Given the description of an element on the screen output the (x, y) to click on. 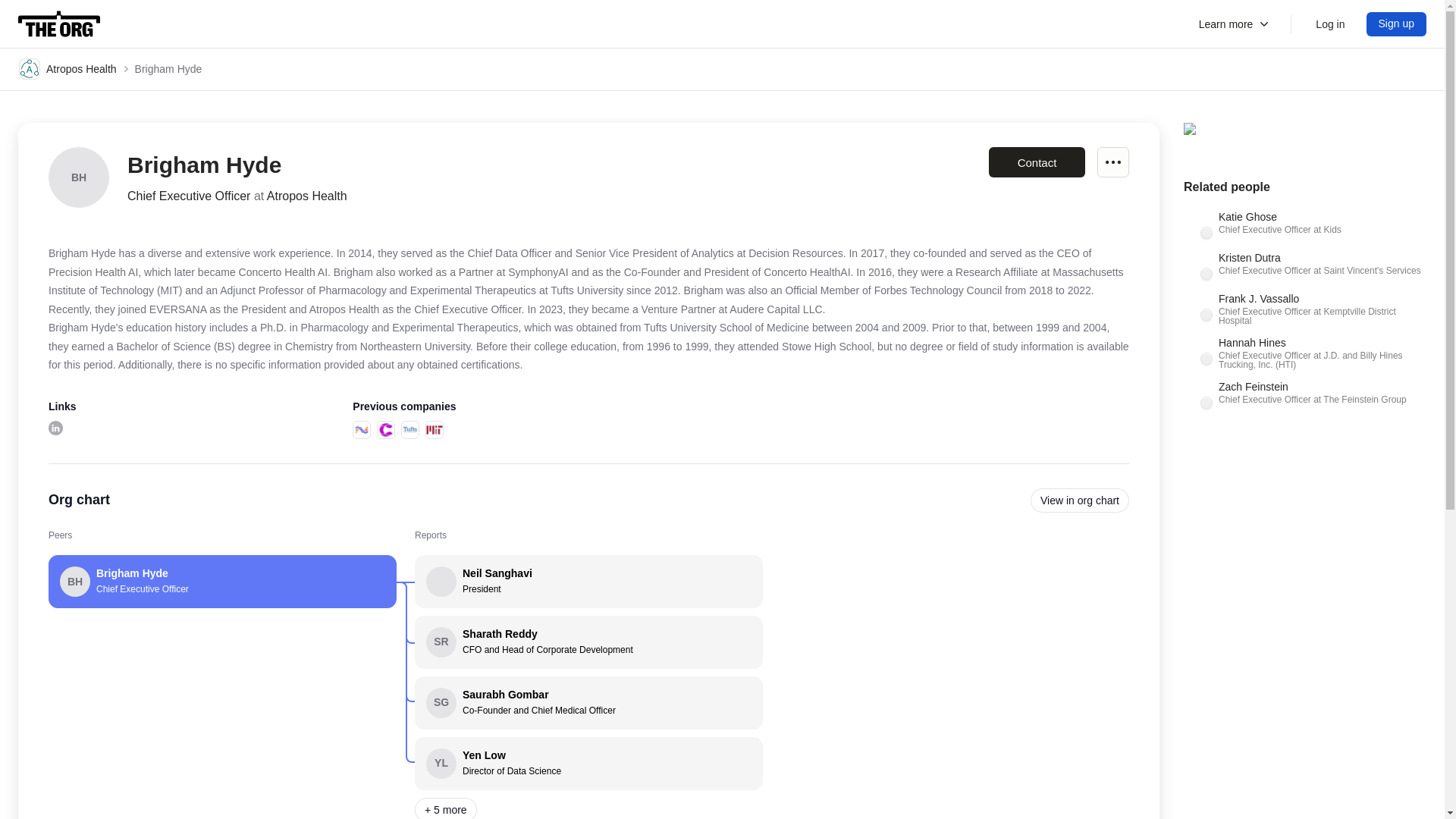
SymphonyAI (361, 429)
Sign up (1396, 24)
Log in (1329, 24)
The Org Home (58, 23)
Atropos Health (67, 68)
Tufts University (410, 429)
MIT (434, 429)
Join, edit and report menu (1113, 162)
ConcertAI (588, 763)
